Given the description of an element on the screen output the (x, y) to click on. 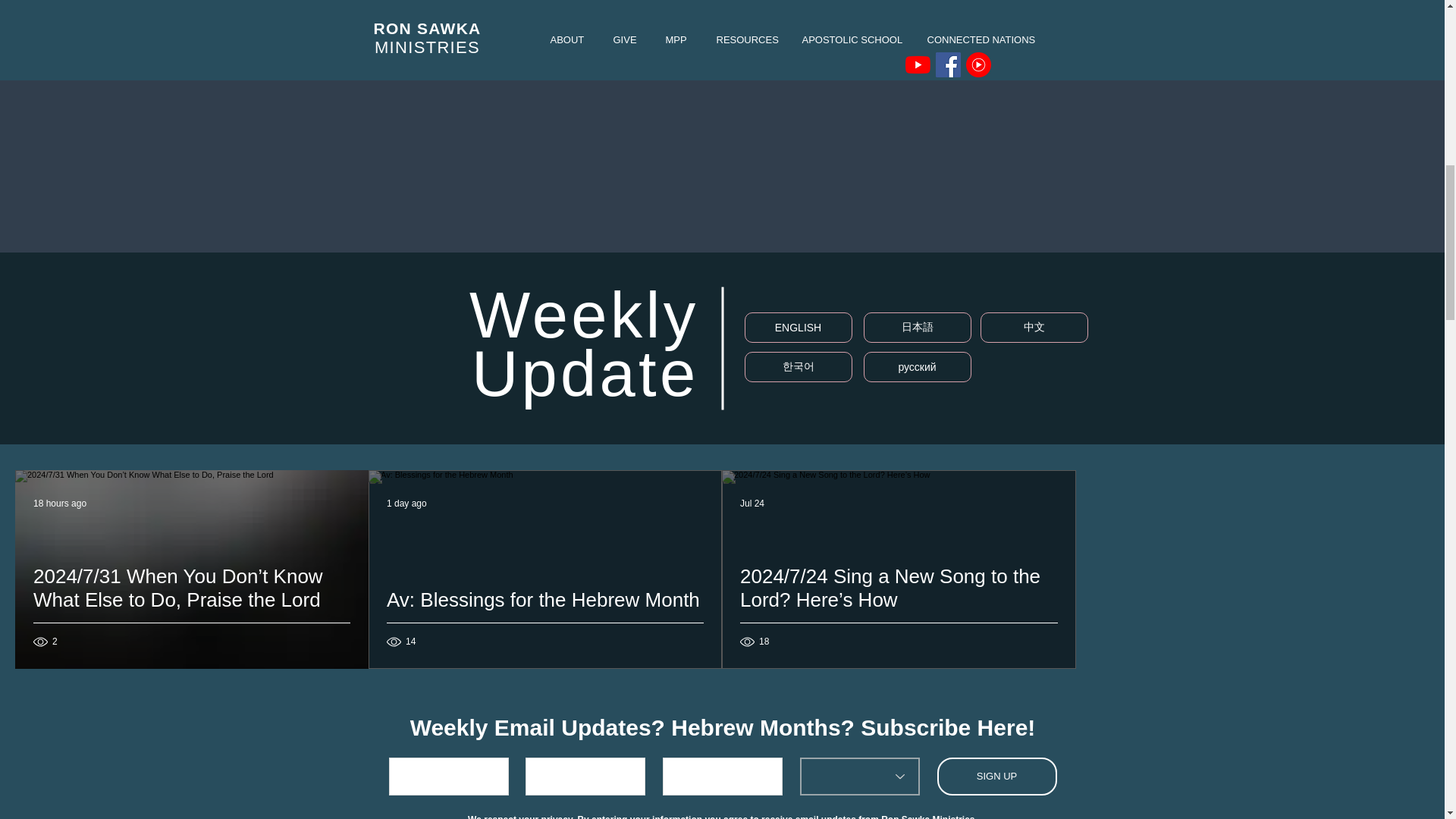
SIGN UP (997, 776)
Av: Blessings for the Hebrew Month (545, 618)
18 hours ago (59, 502)
Jul 24 (751, 502)
1 day ago (406, 502)
ENGLISH (797, 327)
